Given the description of an element on the screen output the (x, y) to click on. 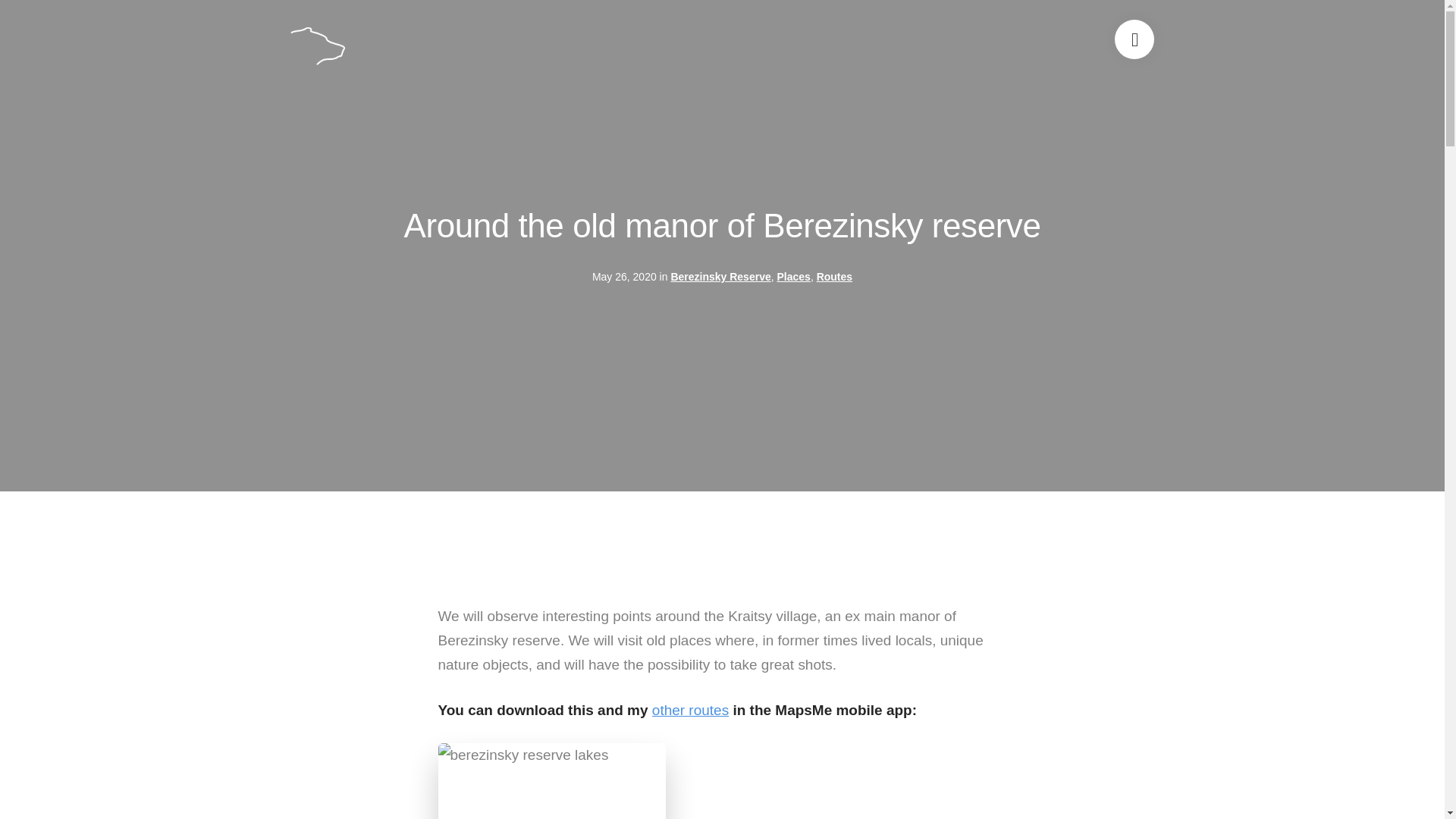
Berezinsky Reserve (719, 276)
Routes (833, 276)
other routes (690, 709)
Places (792, 276)
